Given the description of an element on the screen output the (x, y) to click on. 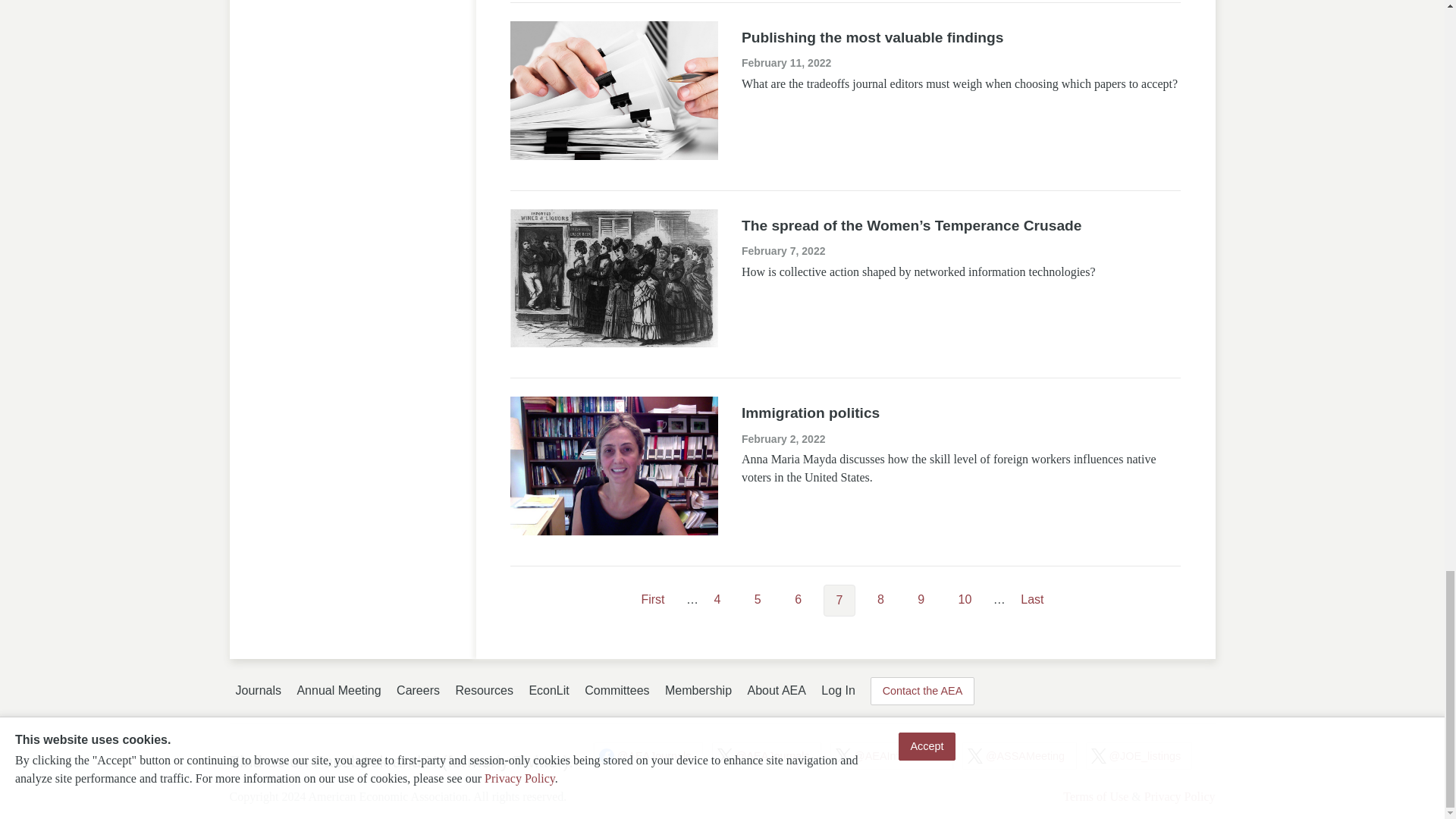
First (652, 599)
6 (798, 599)
Immigration politics (810, 412)
5 (757, 599)
7 (840, 600)
4 (716, 599)
Publishing the most valuable findings (872, 37)
